Given the description of an element on the screen output the (x, y) to click on. 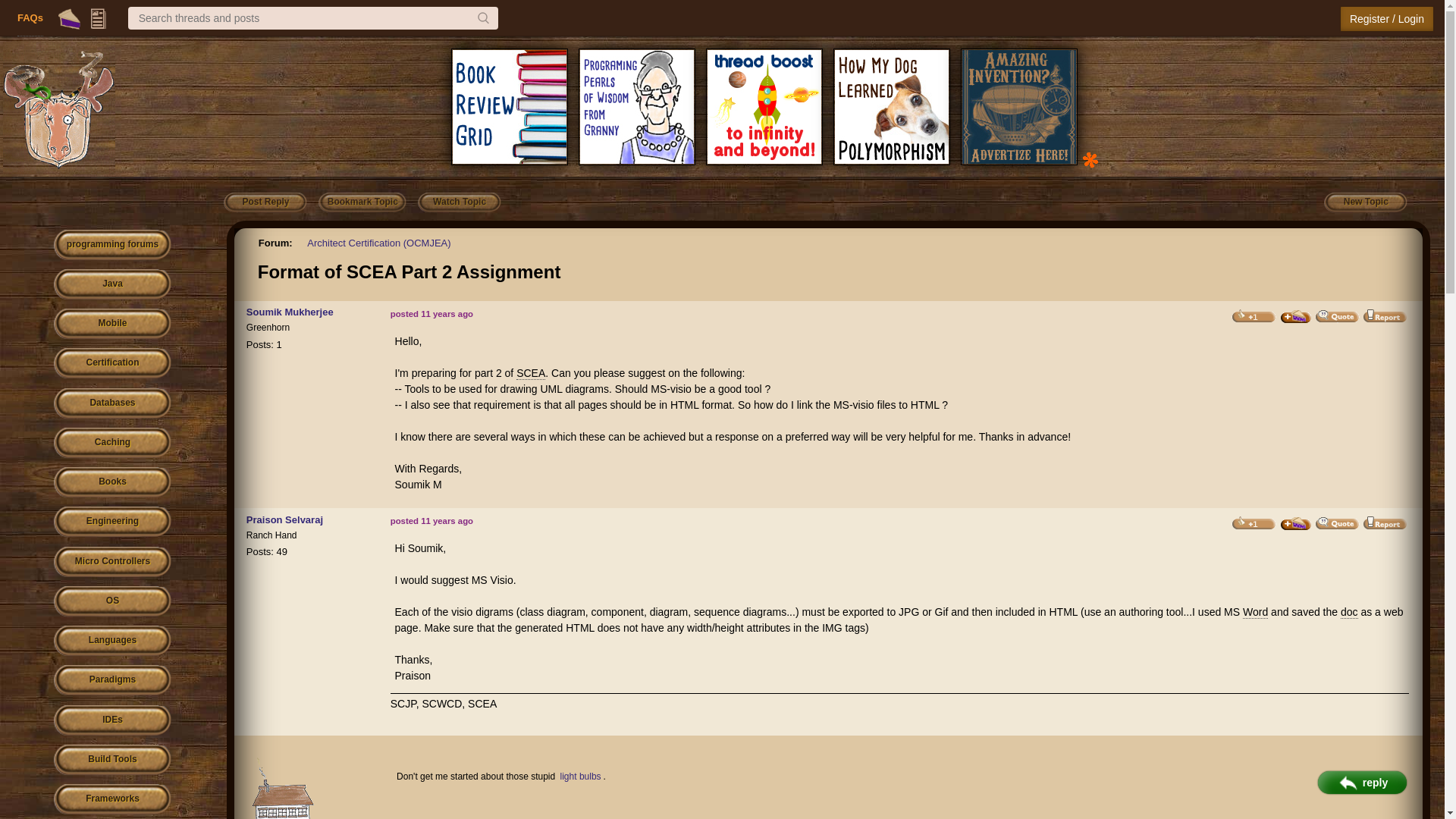
forums home (112, 245)
Java (112, 284)
Mobile (112, 323)
programming forums (112, 245)
OS (112, 601)
Build Tools (112, 759)
Books (112, 481)
Databases (112, 403)
Paradigms (112, 680)
Pie (69, 18)
Databases (112, 403)
Micro Controllers (112, 562)
Certification (112, 363)
